Given the description of an element on the screen output the (x, y) to click on. 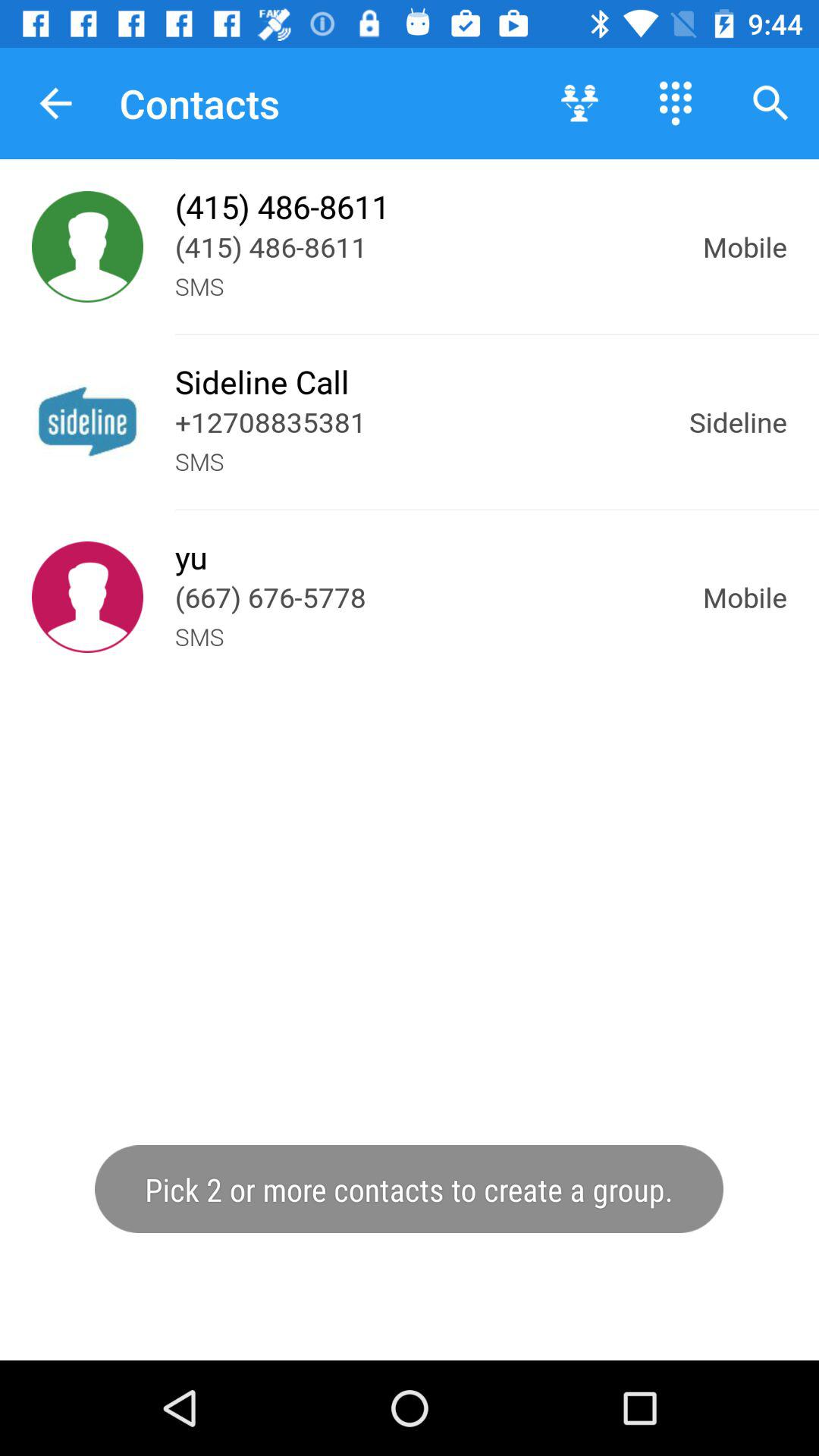
open contact picture (87, 421)
